Given the description of an element on the screen output the (x, y) to click on. 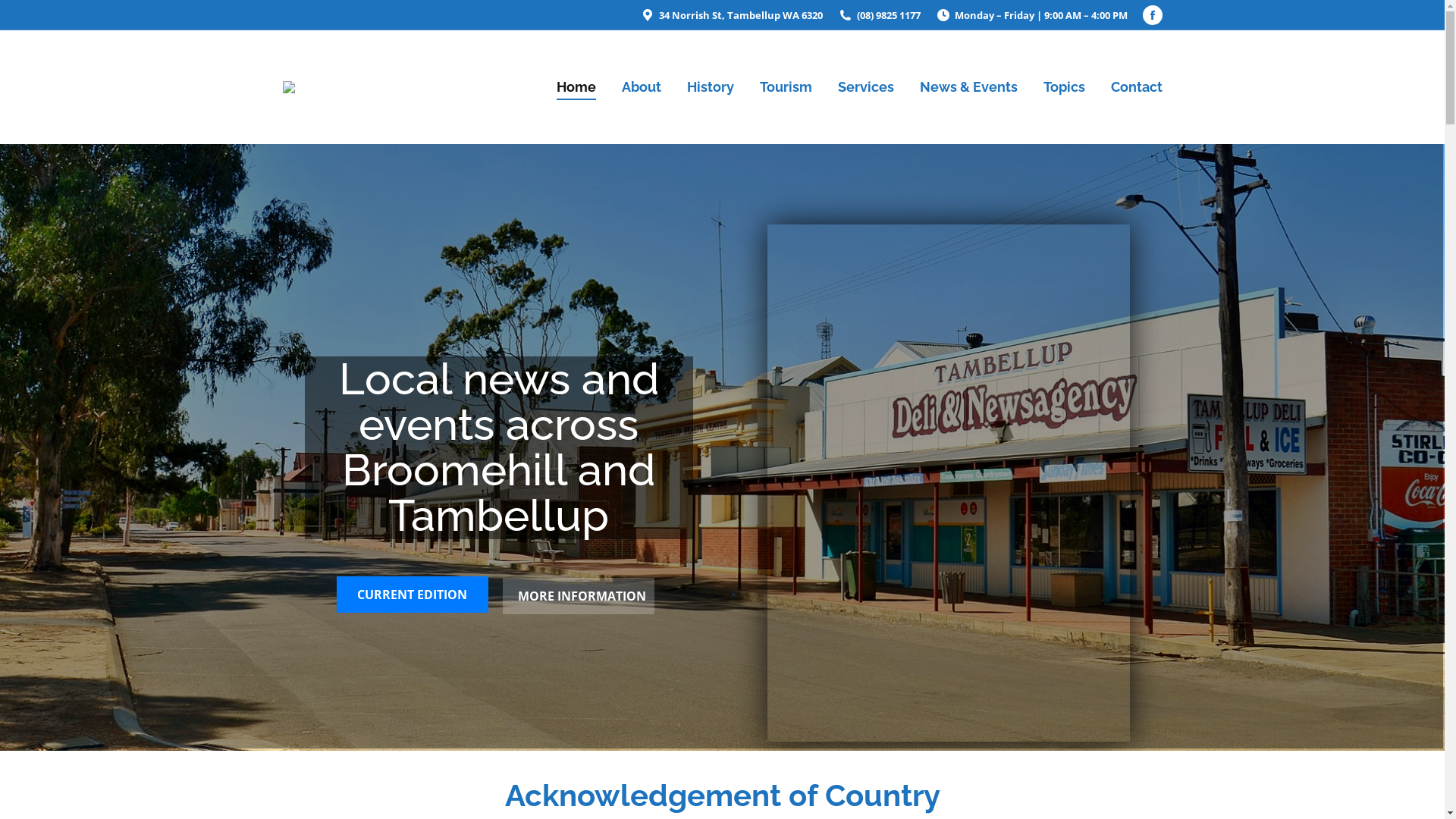
News & Events Element type: text (967, 86)
Services Element type: text (865, 86)
MORE INFORMATION Element type: text (577, 595)
Facebook page opens in new window Element type: text (1151, 15)
Contact Element type: text (1135, 86)
History Element type: text (710, 86)
CURRENT EDITION Element type: text (412, 594)
Topics Element type: text (1064, 86)
Tourism Element type: text (785, 86)
About Element type: text (641, 86)
Home Element type: text (576, 86)
